Given the description of an element on the screen output the (x, y) to click on. 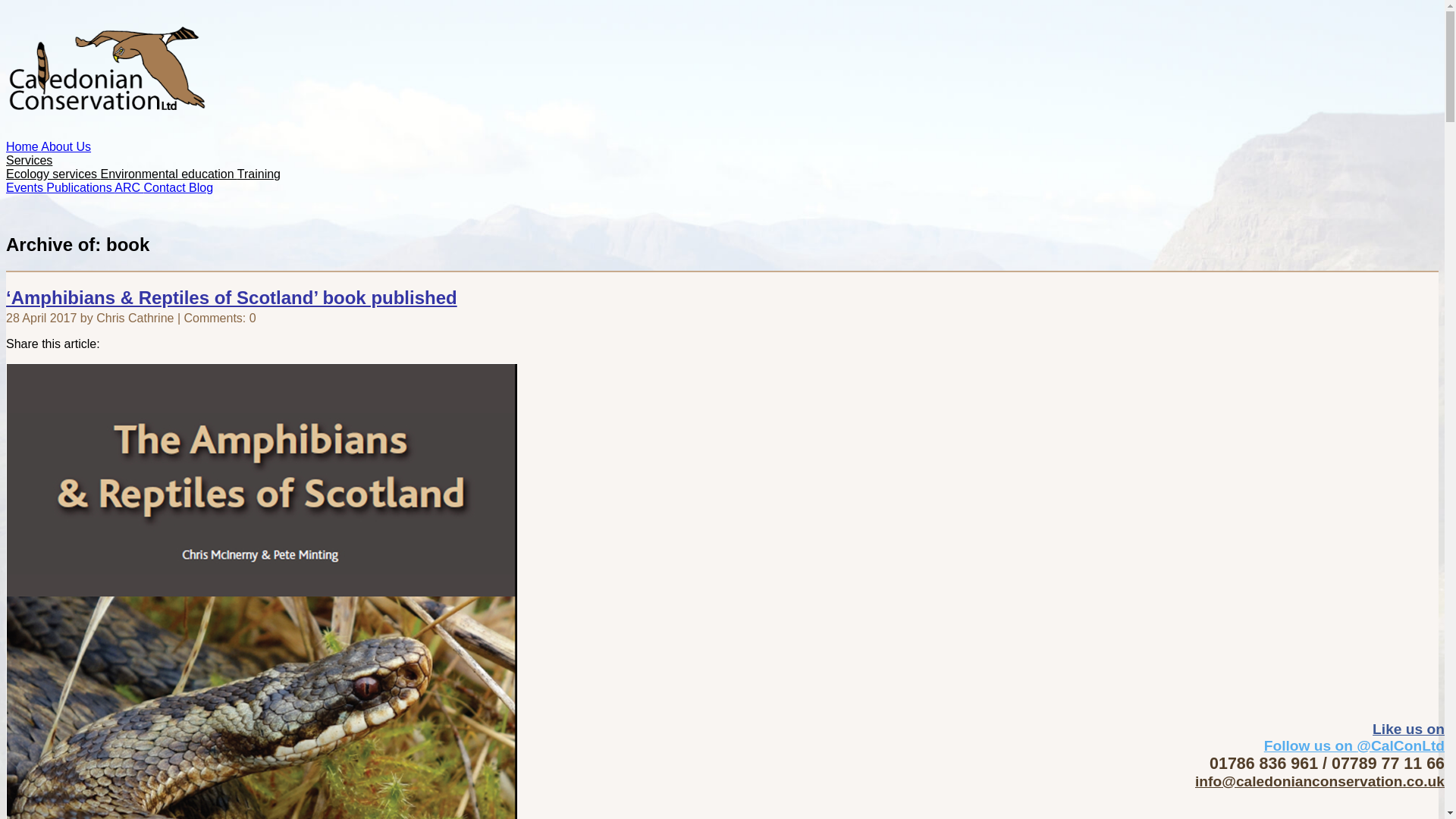
Events (25, 187)
Blog (200, 187)
Publications (80, 187)
About Us (65, 146)
Training (259, 173)
Ecology services (52, 173)
ARC (128, 187)
Environmental education (167, 173)
Services (28, 160)
Home (22, 146)
Contact (165, 187)
